Given the description of an element on the screen output the (x, y) to click on. 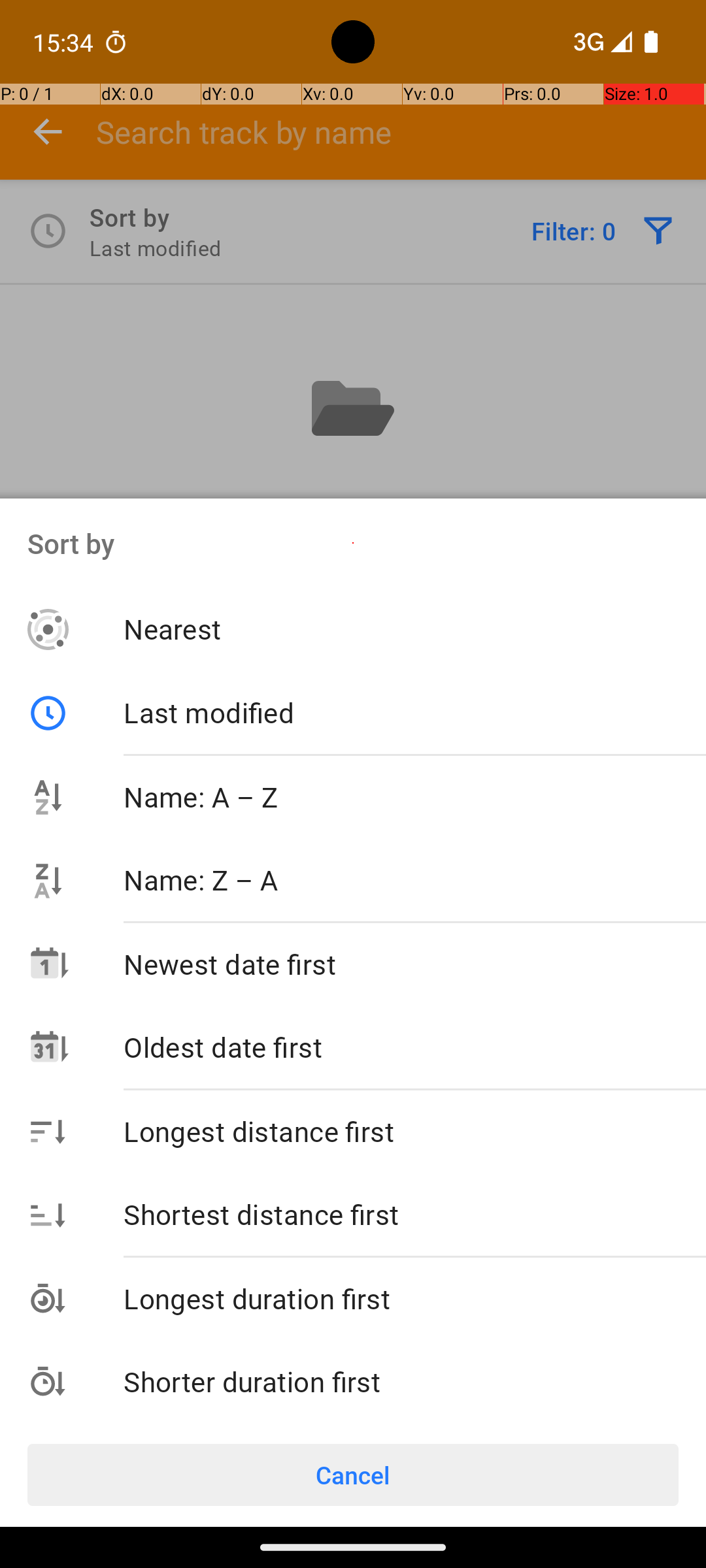
Nearest Element type: android.widget.TextView (414, 628)
Last modified Element type: android.widget.TextView (366, 712)
Name: A – Z Element type: android.widget.TextView (414, 796)
Name: Z – A Element type: android.widget.TextView (414, 879)
Newest date first Element type: android.widget.TextView (414, 963)
Oldest date first Element type: android.widget.TextView (414, 1046)
Longest distance first Element type: android.widget.TextView (414, 1130)
Shortest distance first Element type: android.widget.TextView (414, 1213)
Longest duration first Element type: android.widget.TextView (414, 1298)
Shorter duration first Element type: android.widget.TextView (414, 1381)
